Given the description of an element on the screen output the (x, y) to click on. 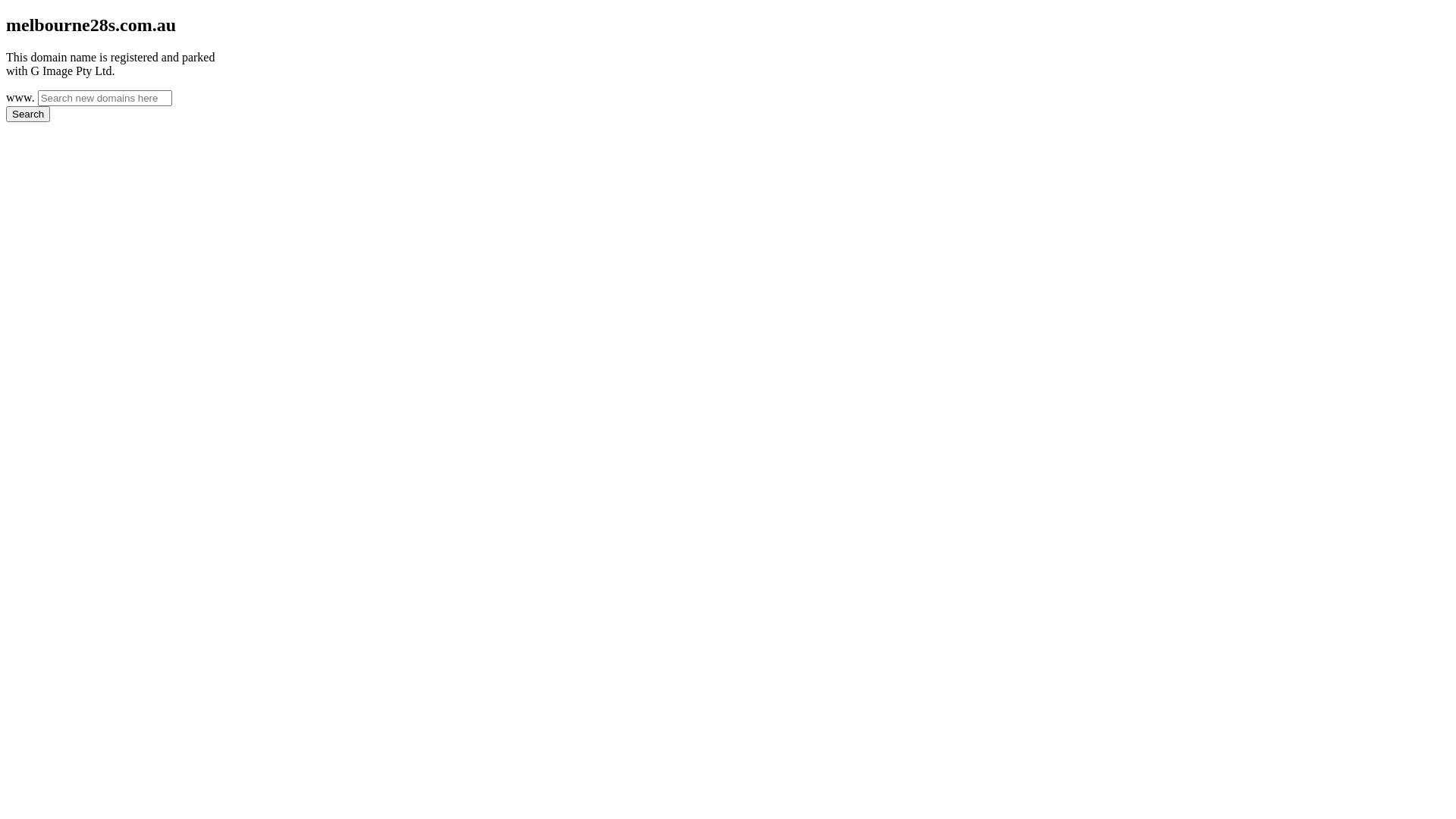
Search Element type: text (28, 114)
